Given the description of an element on the screen output the (x, y) to click on. 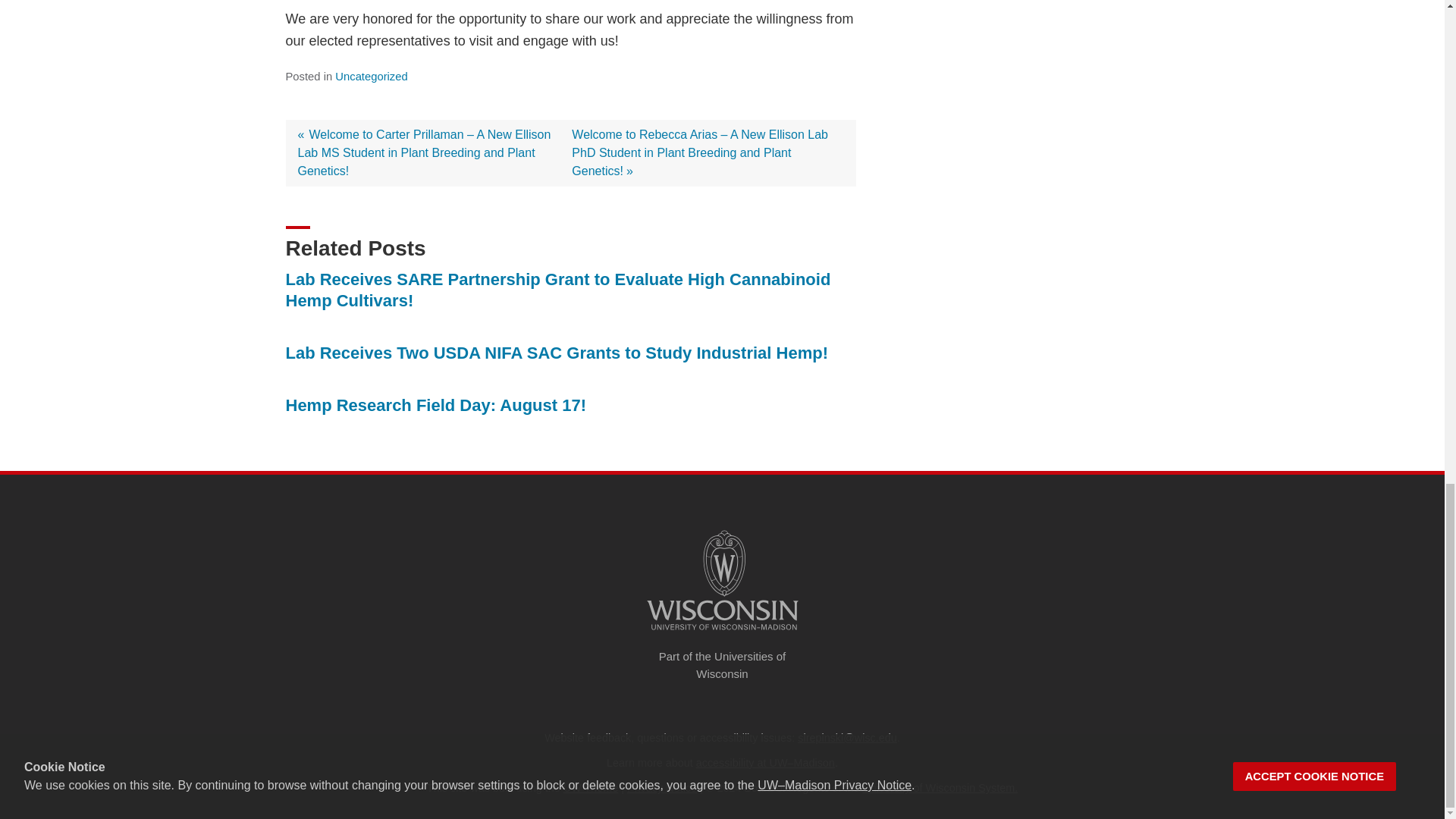
Privacy Notice (662, 787)
Part of the Universities of Wisconsin (720, 665)
University of Wisconsin System. (939, 787)
Hemp Research Field Day: August 17! (435, 404)
Uncategorized (370, 76)
University logo that links to main university website (721, 632)
UW Theme (590, 787)
University logo that links to main university website (721, 580)
